Given the description of an element on the screen output the (x, y) to click on. 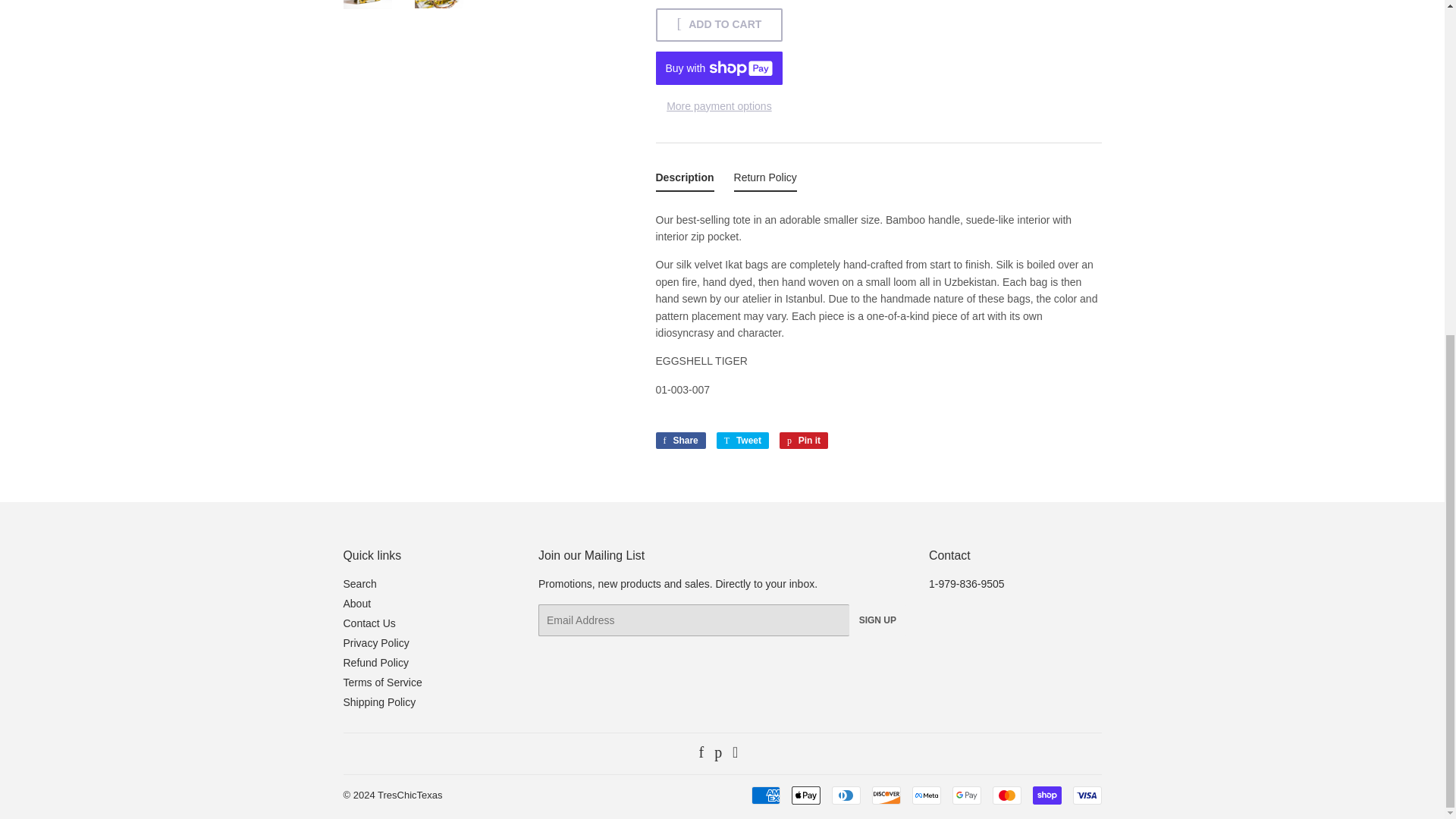
Pin on Pinterest (803, 440)
Google Pay (966, 795)
American Express (764, 795)
Tweet on Twitter (742, 440)
Apple Pay (806, 795)
Shop Pay (1046, 795)
Diners Club (845, 795)
Meta Pay (925, 795)
Discover (886, 795)
Visa (1085, 795)
